Given the description of an element on the screen output the (x, y) to click on. 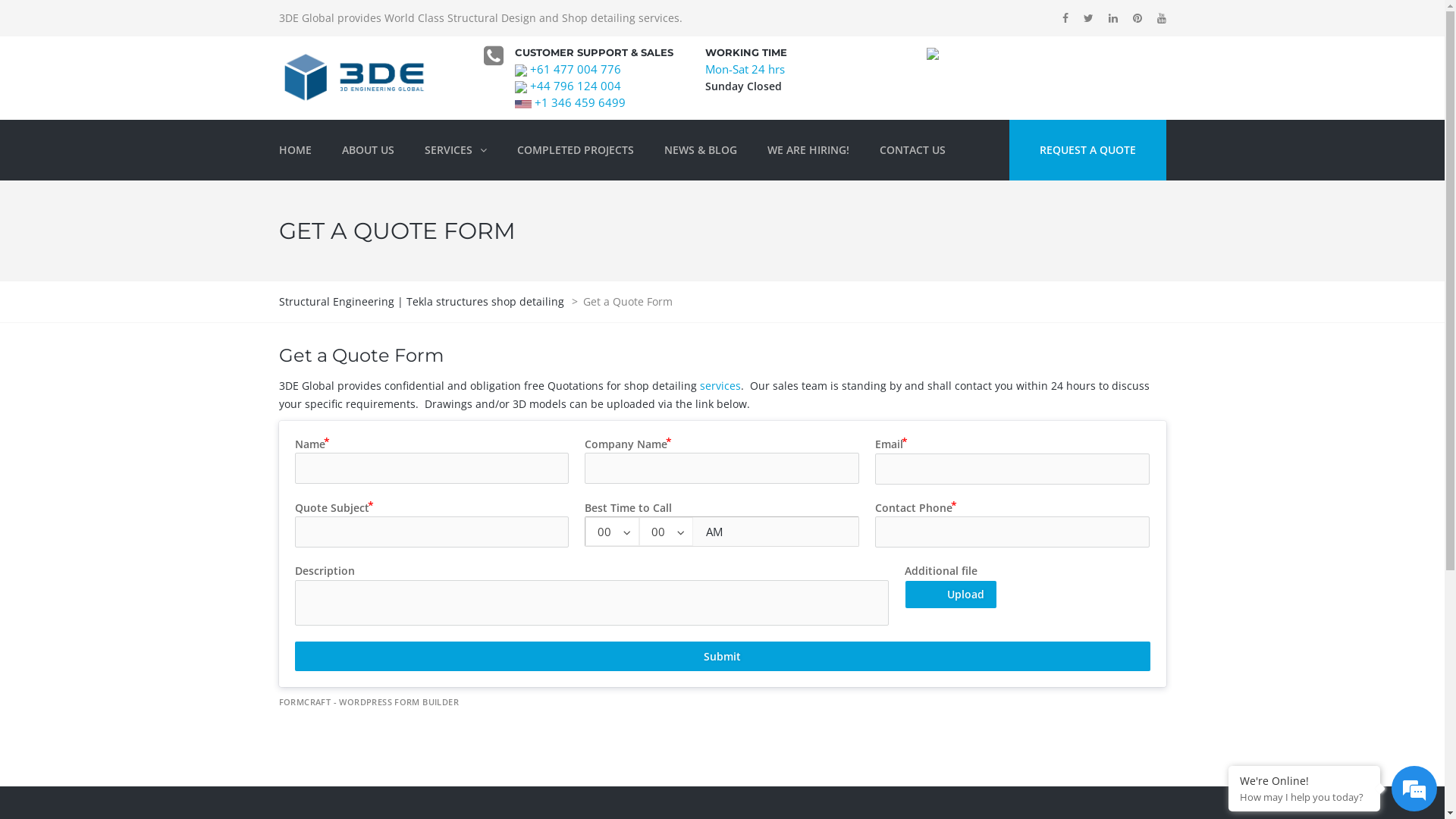
Submit Element type: text (721, 656)
NEWS & BLOG Element type: text (700, 149)
+61 477 004 776 Element type: text (574, 68)
00 Element type: text (612, 531)
Structural Engineering | Tekla structures shop detailing Element type: text (422, 301)
ABOUT US Element type: text (367, 149)
WE ARE HIRING! Element type: text (808, 149)
00 Element type: text (666, 531)
REQUEST A QUOTE Element type: text (1086, 149)
COMPLETED PROJECTS Element type: text (575, 149)
CONTACT US Element type: text (912, 149)
SERVICES Element type: text (455, 149)
services Element type: text (719, 385)
+44 796 124 004 Element type: text (574, 85)
HOME Element type: text (302, 149)
  Element type: text (524, 101)
+1 346 459 6499 Element type: text (579, 101)
FORMCRAFT - WORDPRESS FORM BUILDER Element type: text (369, 702)
